Given the description of an element on the screen output the (x, y) to click on. 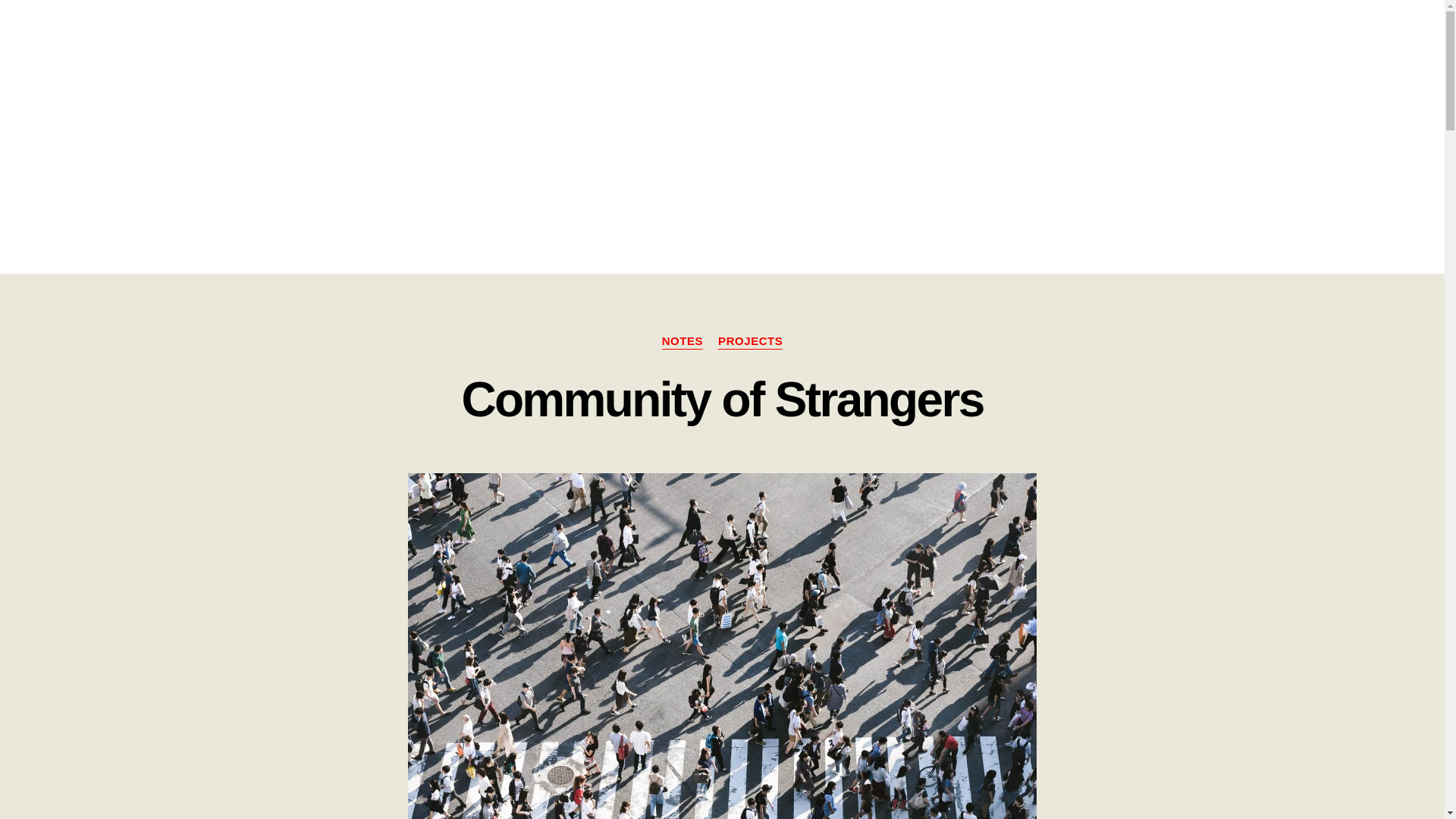
PROJECTS (750, 341)
NOTES (682, 341)
Digital Marketing (1203, 30)
Pick My Brain (1317, 30)
Projects (1106, 30)
Matthew Dickinson (159, 30)
Adventures (1026, 30)
Community of Strangers (721, 399)
52Peaks (947, 30)
